Given the description of an element on the screen output the (x, y) to click on. 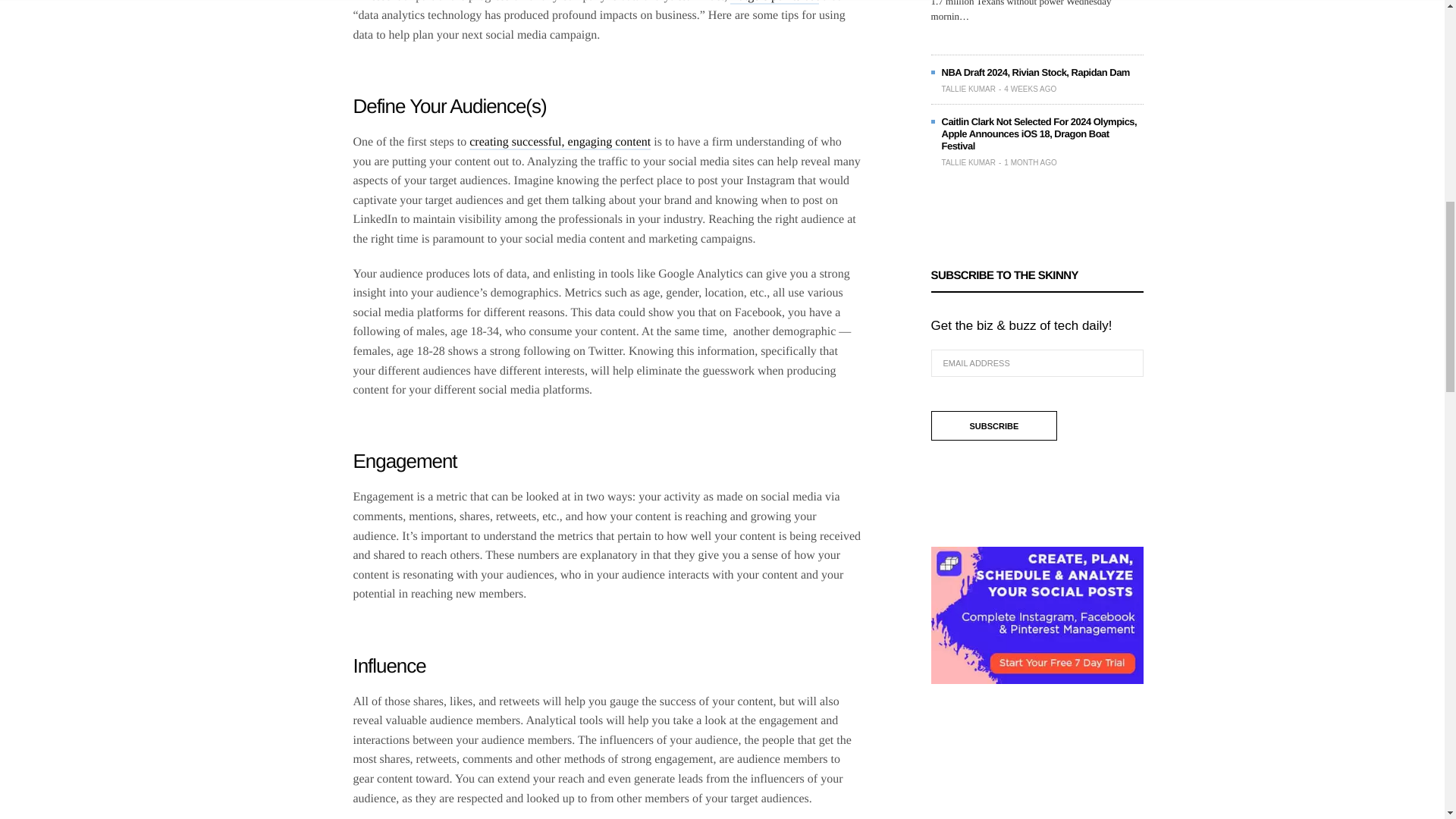
Subscribe (994, 425)
